Given the description of an element on the screen output the (x, y) to click on. 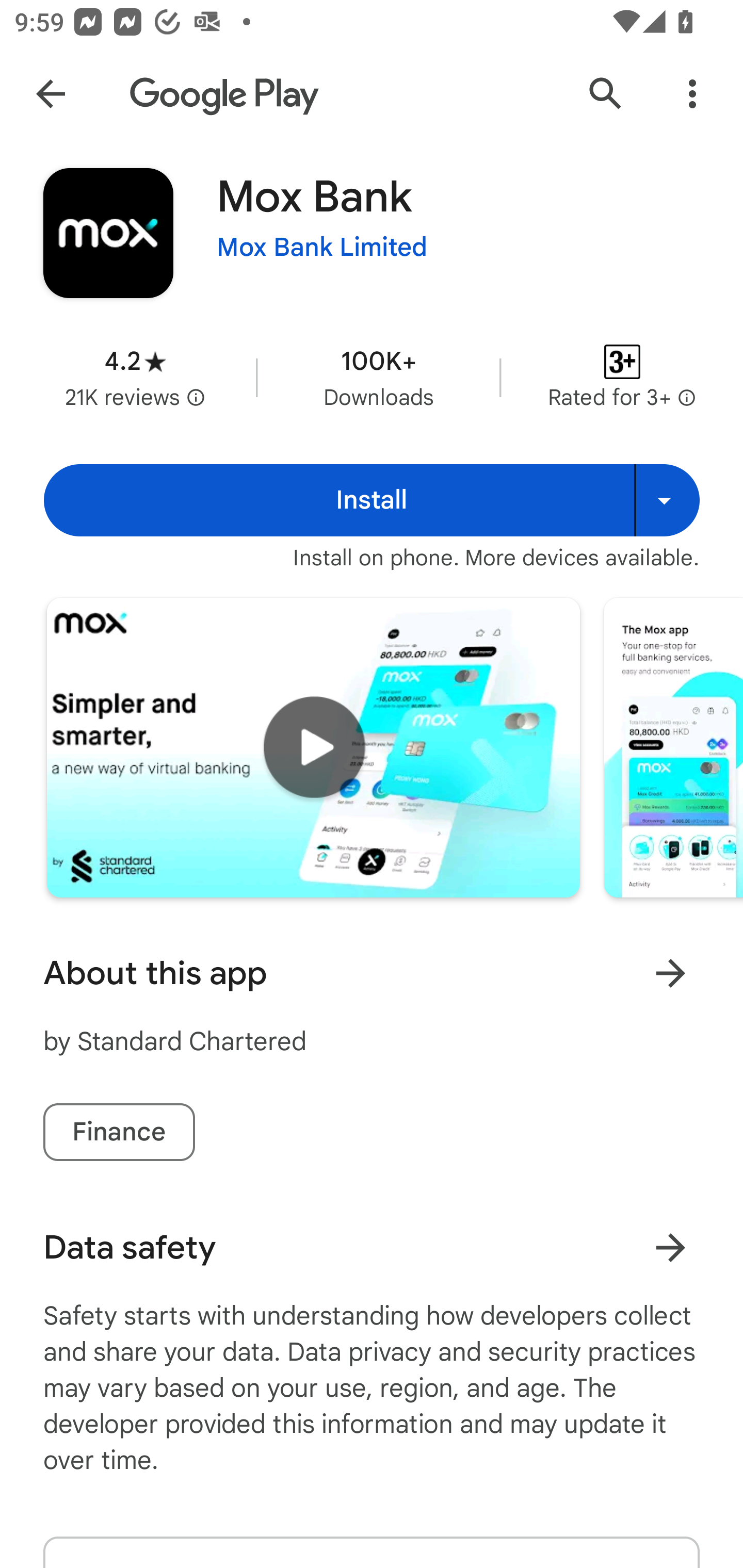
Navigate up (50, 93)
Search Google Play (605, 93)
More Options (692, 93)
Mox Bank Limited (321, 247)
Average rating 4.2 stars in 21 thousand reviews (135, 377)
Content rating Rated for 3+ (622, 377)
Install Install Install on more devices (371, 500)
Install on more devices (667, 500)
Play trailer for "Mox Bank" (313, 746)
Screenshot "1" of "7" (673, 746)
About this app Learn more About this app (371, 972)
Learn more About this app (670, 972)
Finance tag (118, 1132)
Data safety Learn more about data safety (371, 1247)
Learn more about data safety (670, 1247)
